Given the description of an element on the screen output the (x, y) to click on. 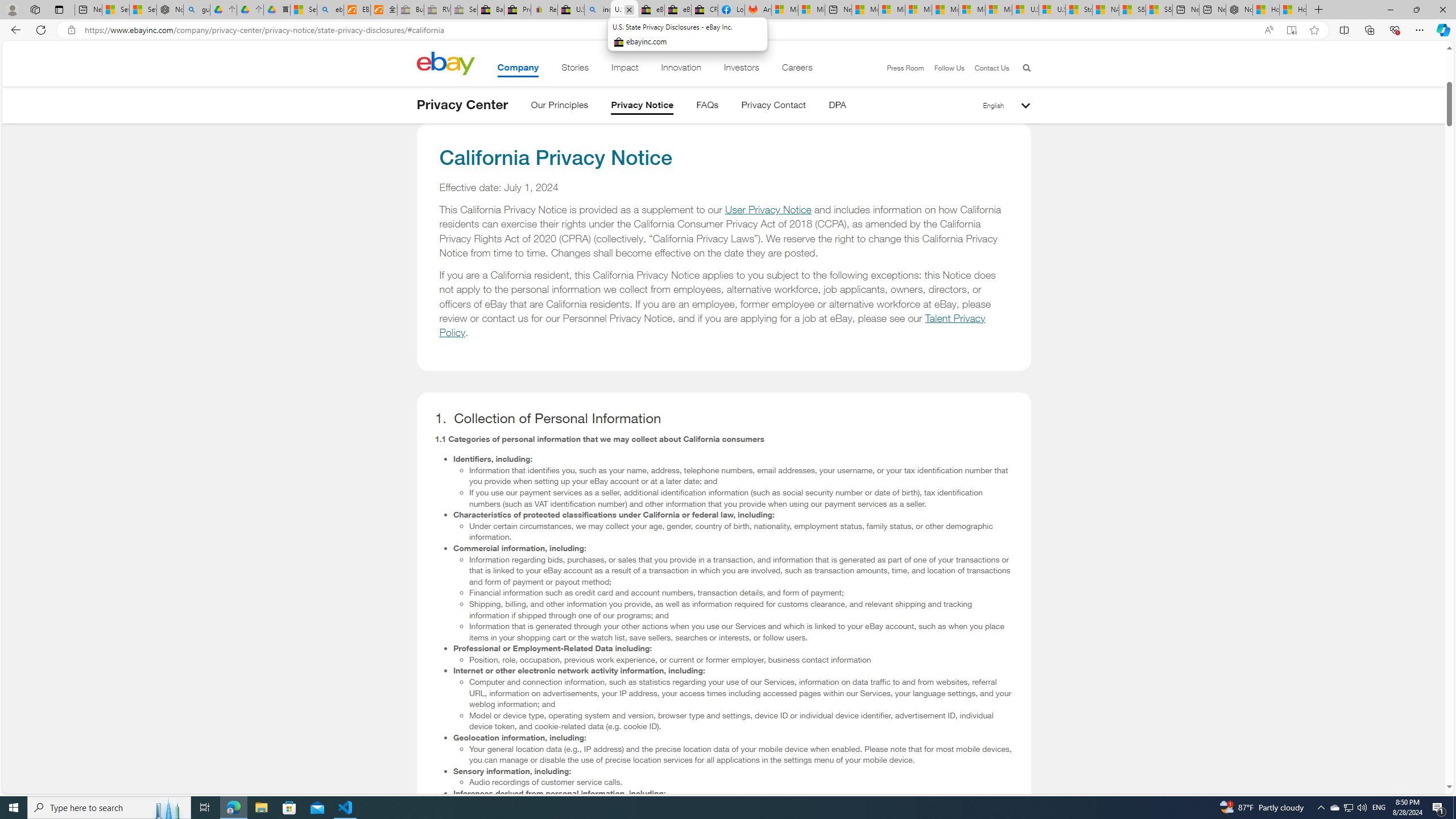
Sell worldwide with eBay - Sleeping (463, 9)
Microsoft account | Home (917, 9)
eBay Inc. Reports Third Quarter 2023 Results (677, 9)
DPA (836, 107)
